Given the description of an element on the screen output the (x, y) to click on. 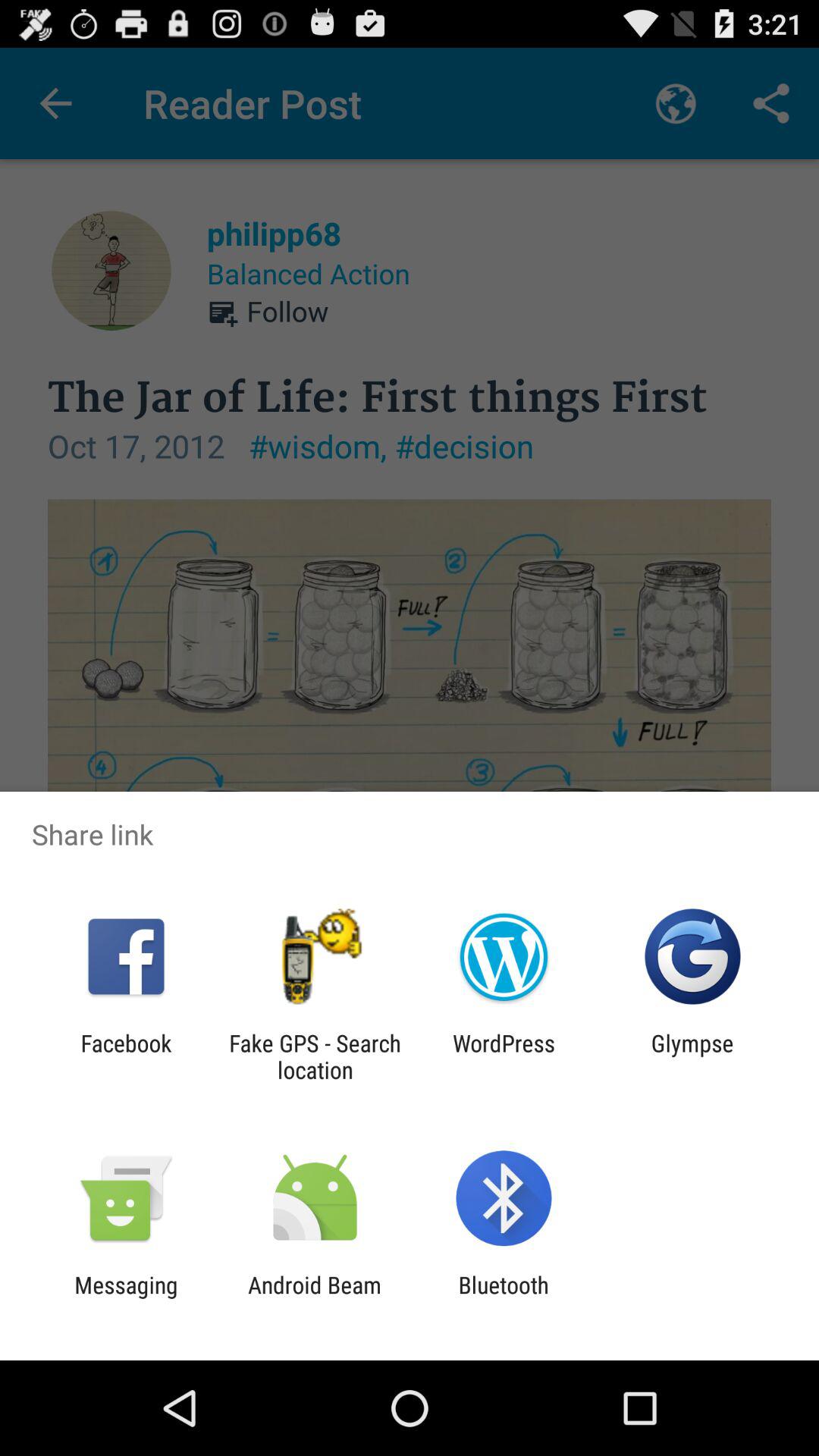
press the facebook app (125, 1056)
